Given the description of an element on the screen output the (x, y) to click on. 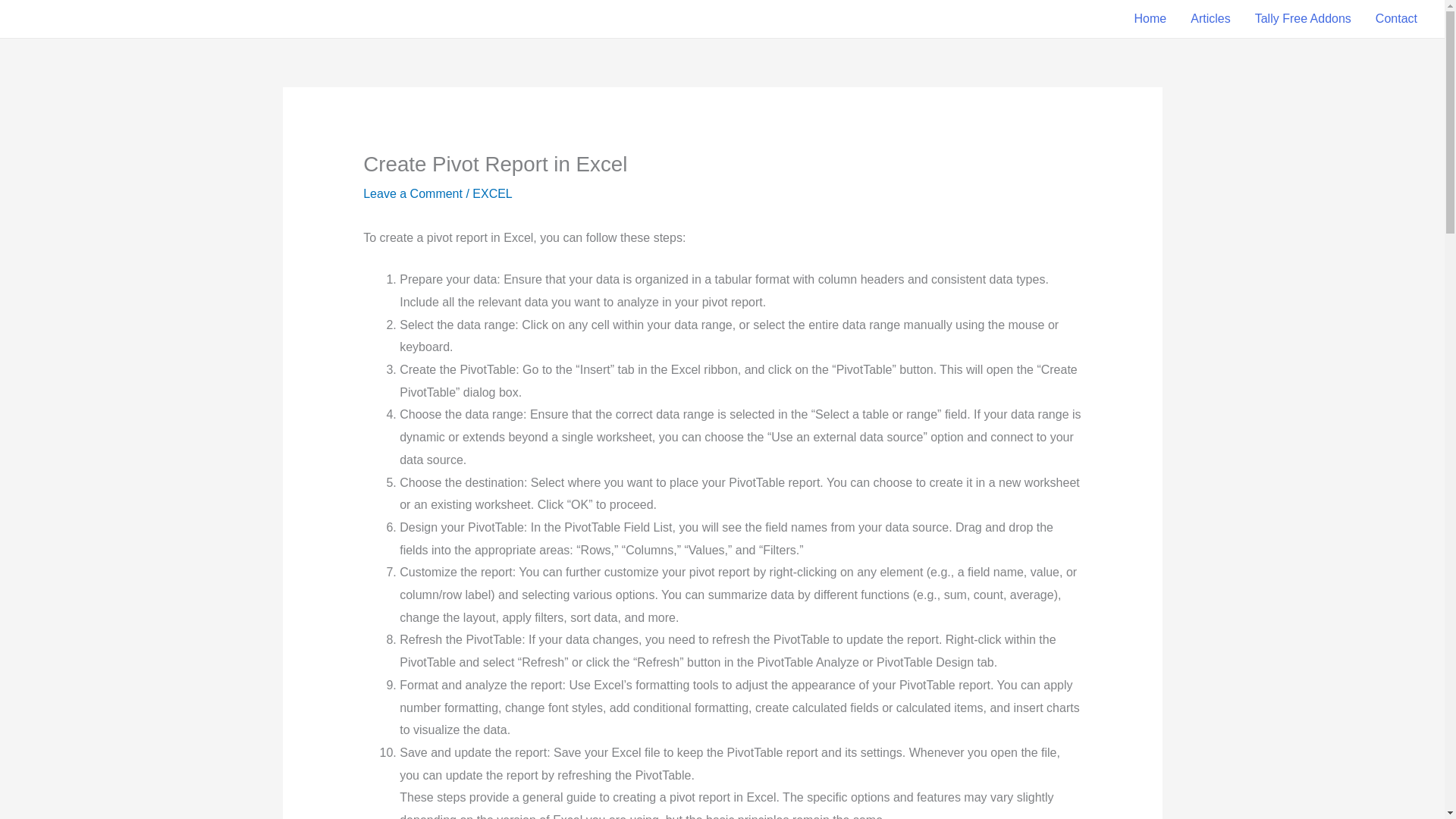
Articles (1209, 18)
EXCEL (491, 193)
Home (1150, 18)
Contact (1395, 18)
Leave a Comment (412, 193)
Tally Free Addons (1302, 18)
